Given the description of an element on the screen output the (x, y) to click on. 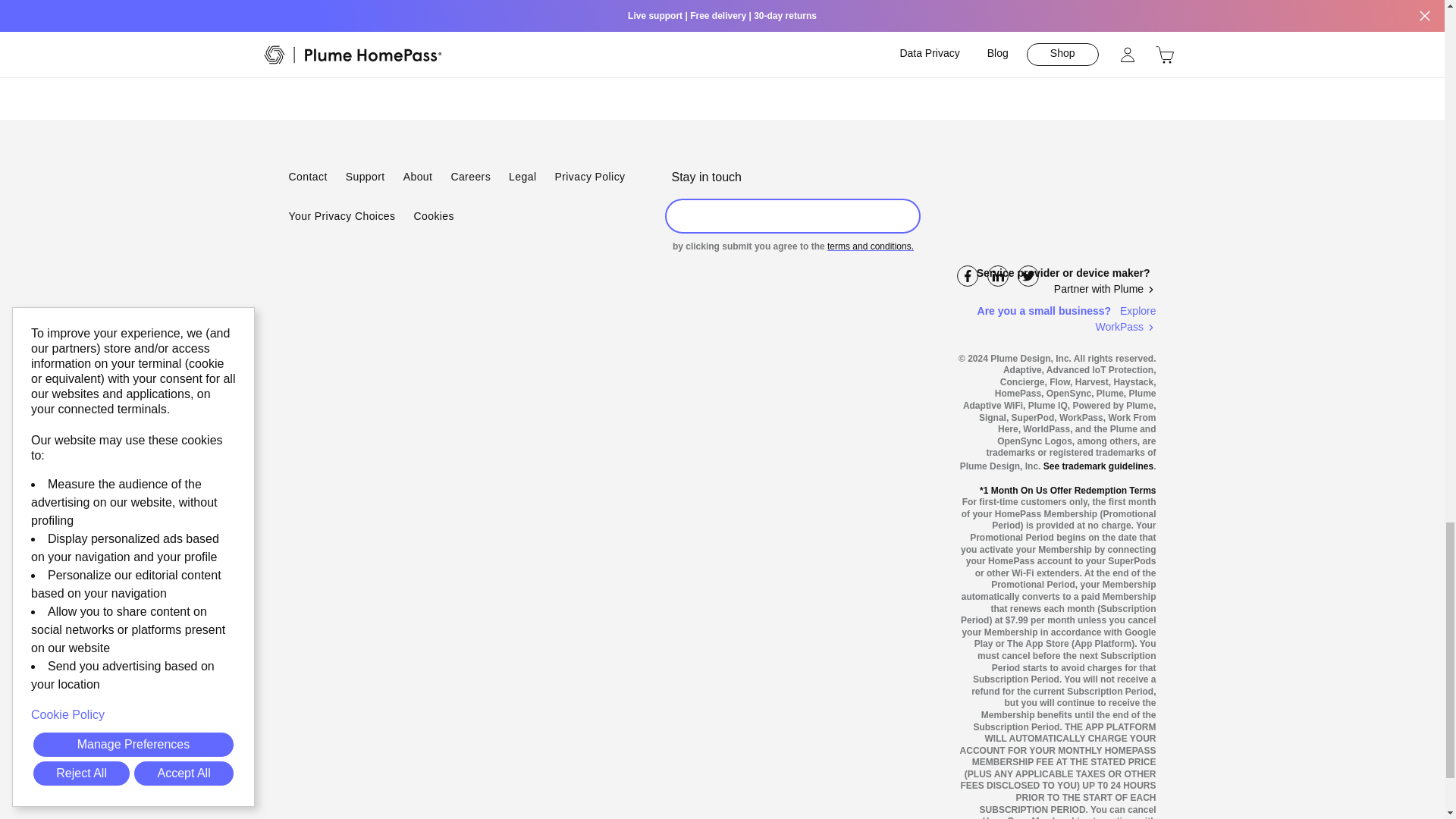
Contact (307, 177)
See trademark guidelines (1098, 466)
Cookies (433, 217)
Service provider or device maker? Partner with Plume (1056, 281)
About (417, 177)
terms and conditions. (870, 245)
Support (365, 177)
Privacy Policy (589, 177)
Careers (469, 177)
Legal (521, 177)
Your Privacy Choices (341, 217)
Are you a small business? Explore WorkPass (1056, 318)
